Given the description of an element on the screen output the (x, y) to click on. 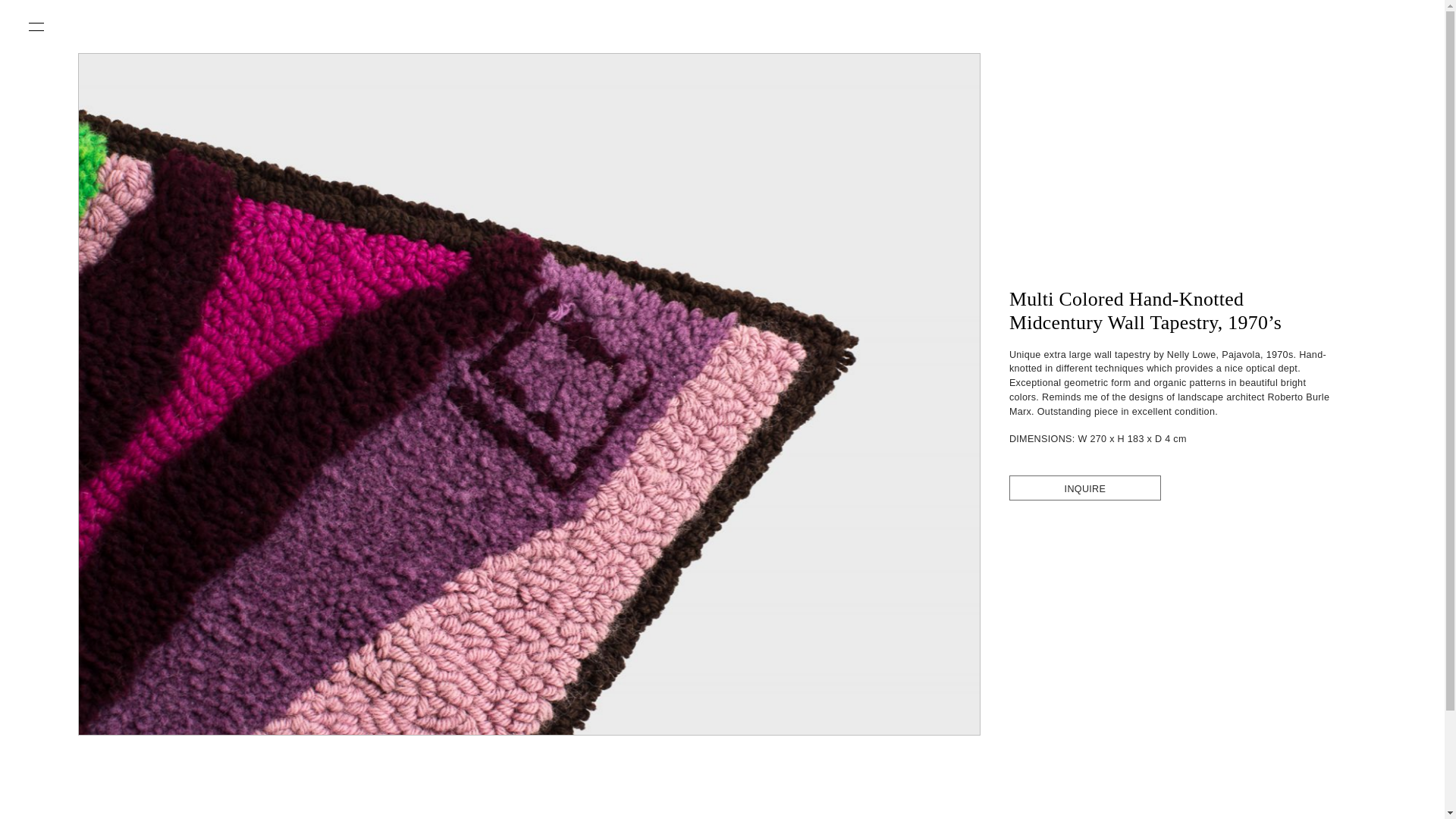
INQUIRE (1084, 487)
INQUIRE (1084, 489)
